Given the description of an element on the screen output the (x, y) to click on. 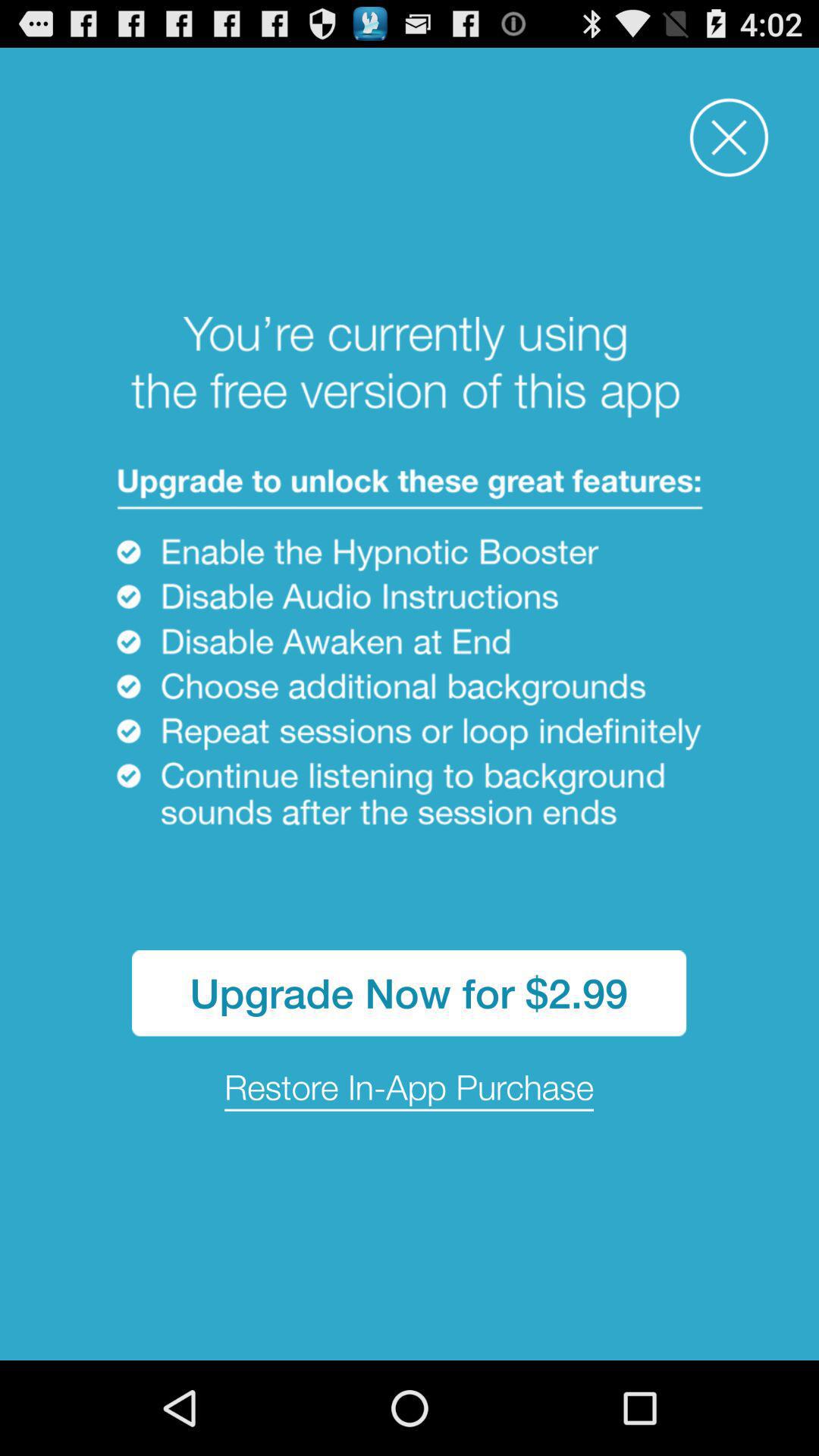
tap the icon below the upgrade now for item (408, 1088)
